Given the description of an element on the screen output the (x, y) to click on. 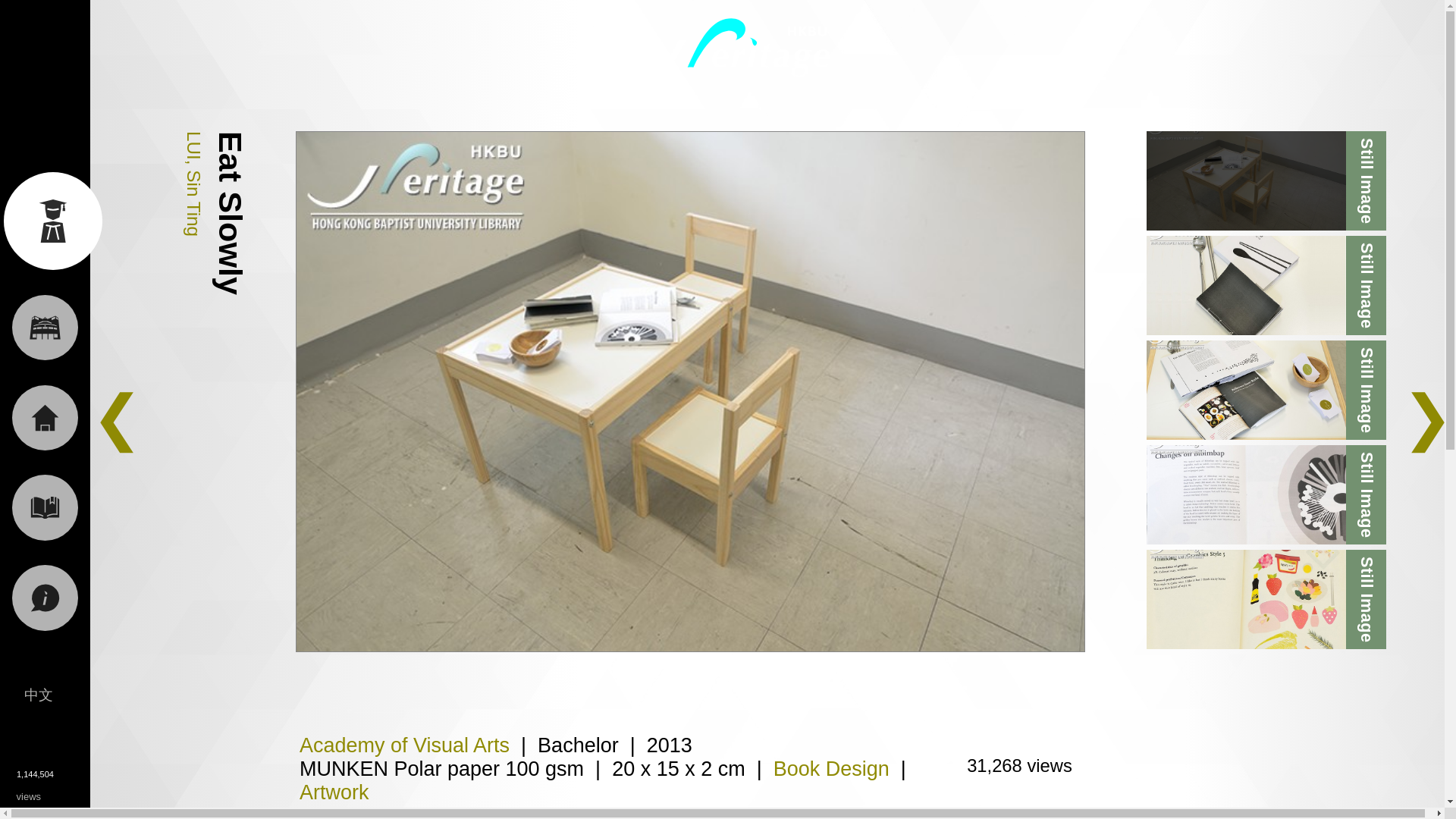
Artwork (334, 792)
Book Design (831, 768)
Academy of Visual Arts (404, 744)
